Given the description of an element on the screen output the (x, y) to click on. 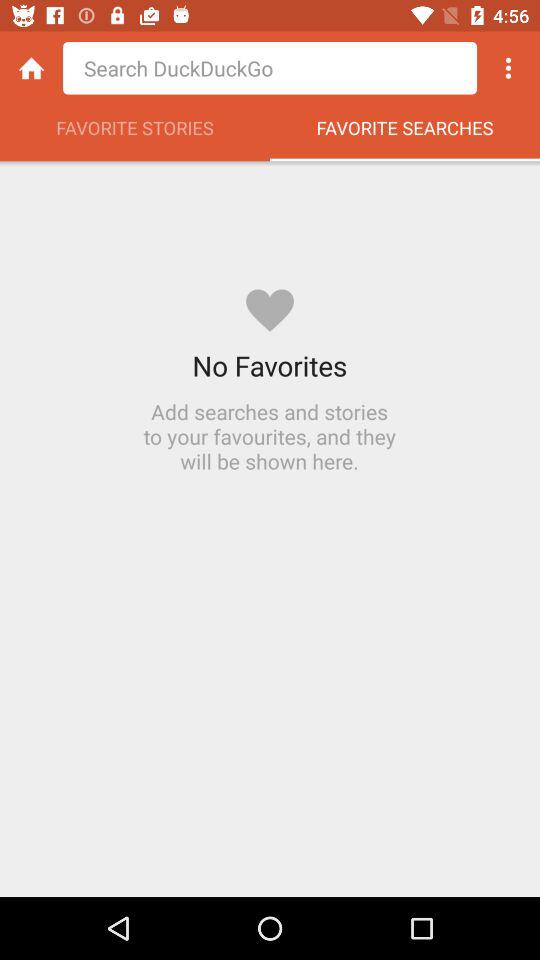
go home (31, 68)
